Given the description of an element on the screen output the (x, y) to click on. 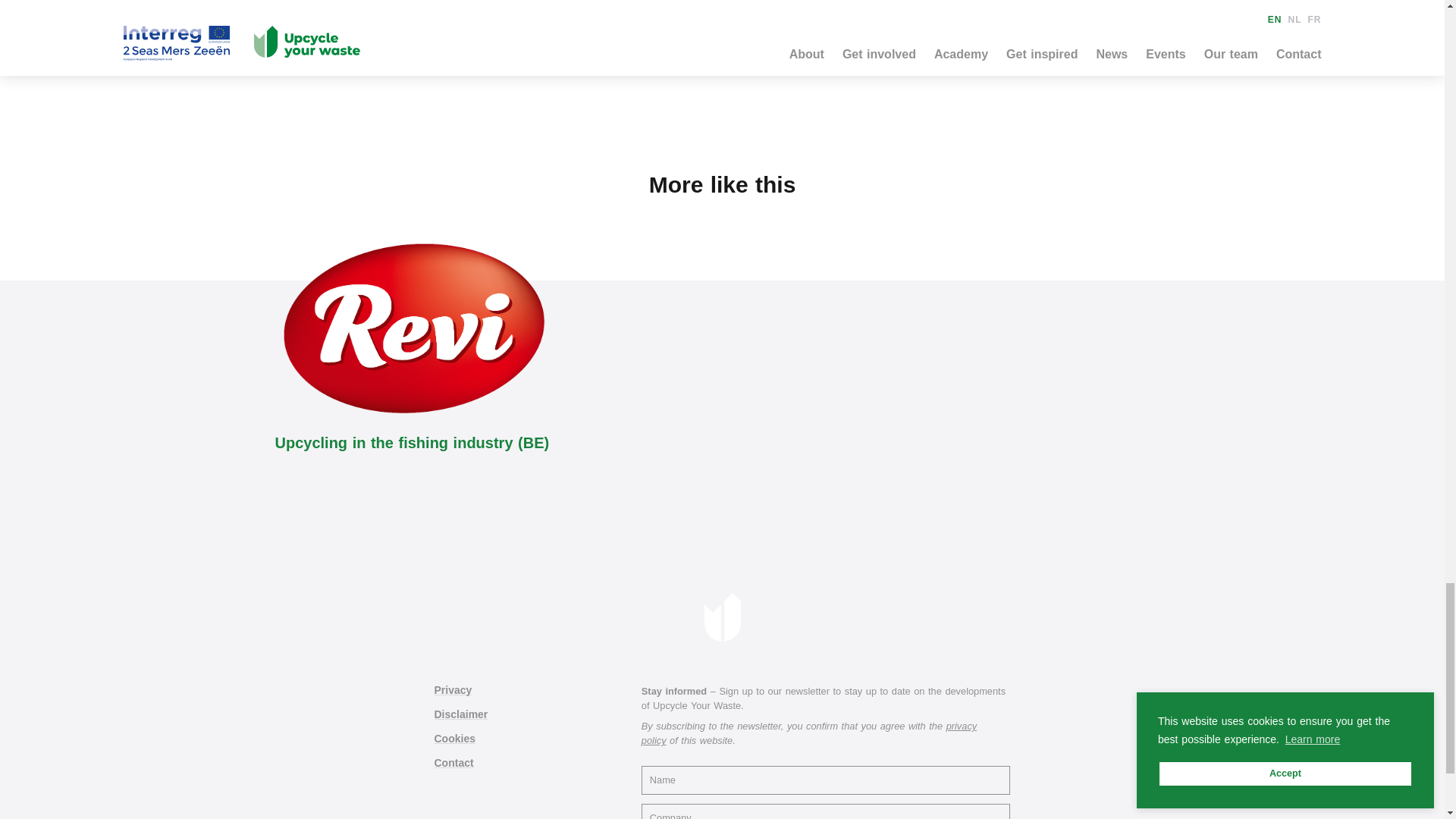
Contact (453, 762)
Cookies (453, 738)
Privacy (452, 689)
privacy policy (809, 733)
Disclaimer (460, 714)
